Given the description of an element on the screen output the (x, y) to click on. 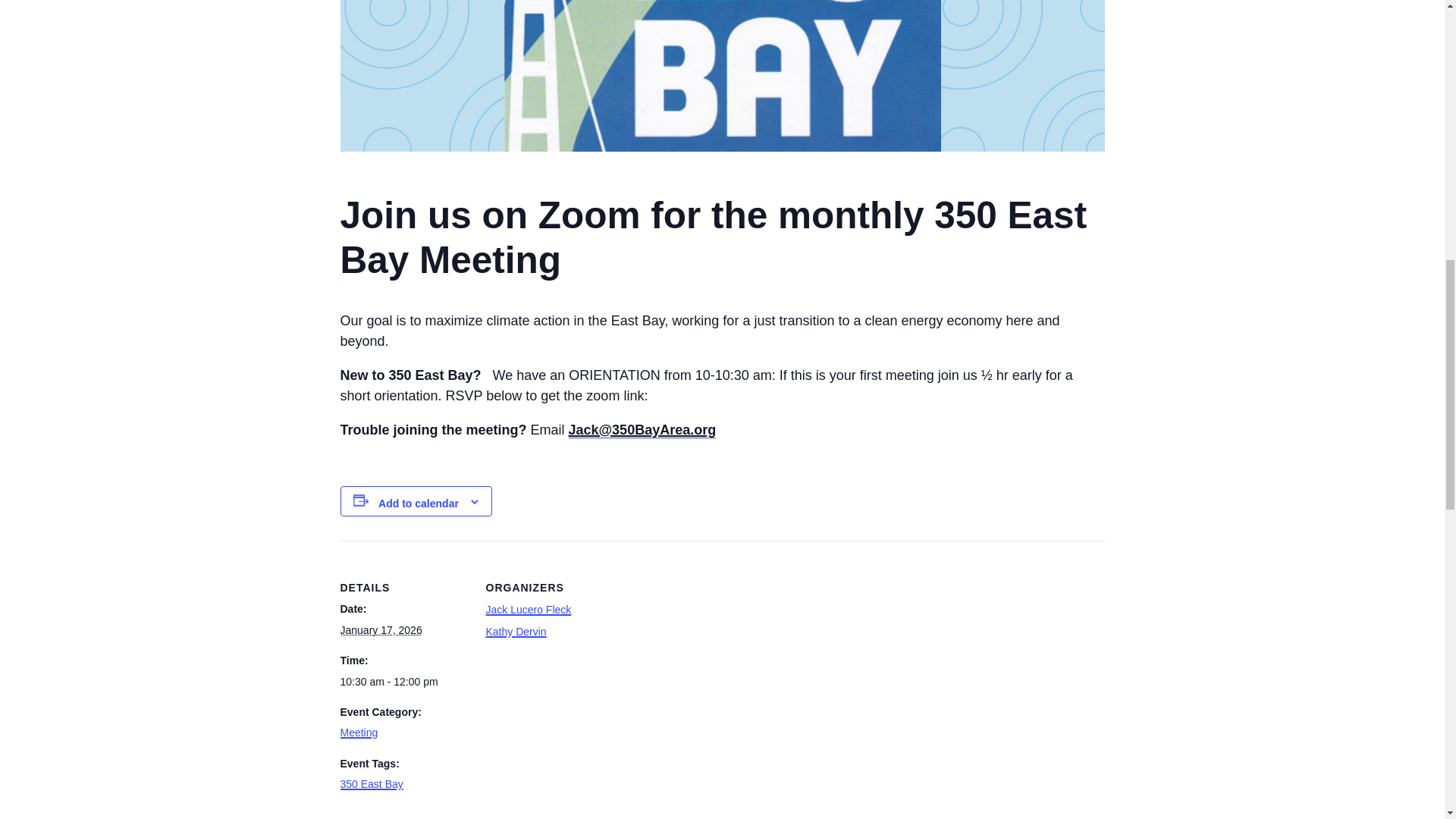
2026-01-17 (380, 630)
2026-01-17 (403, 681)
Kathy Dervin (515, 631)
Jack Lucero Fleck (527, 609)
